Given the description of an element on the screen output the (x, y) to click on. 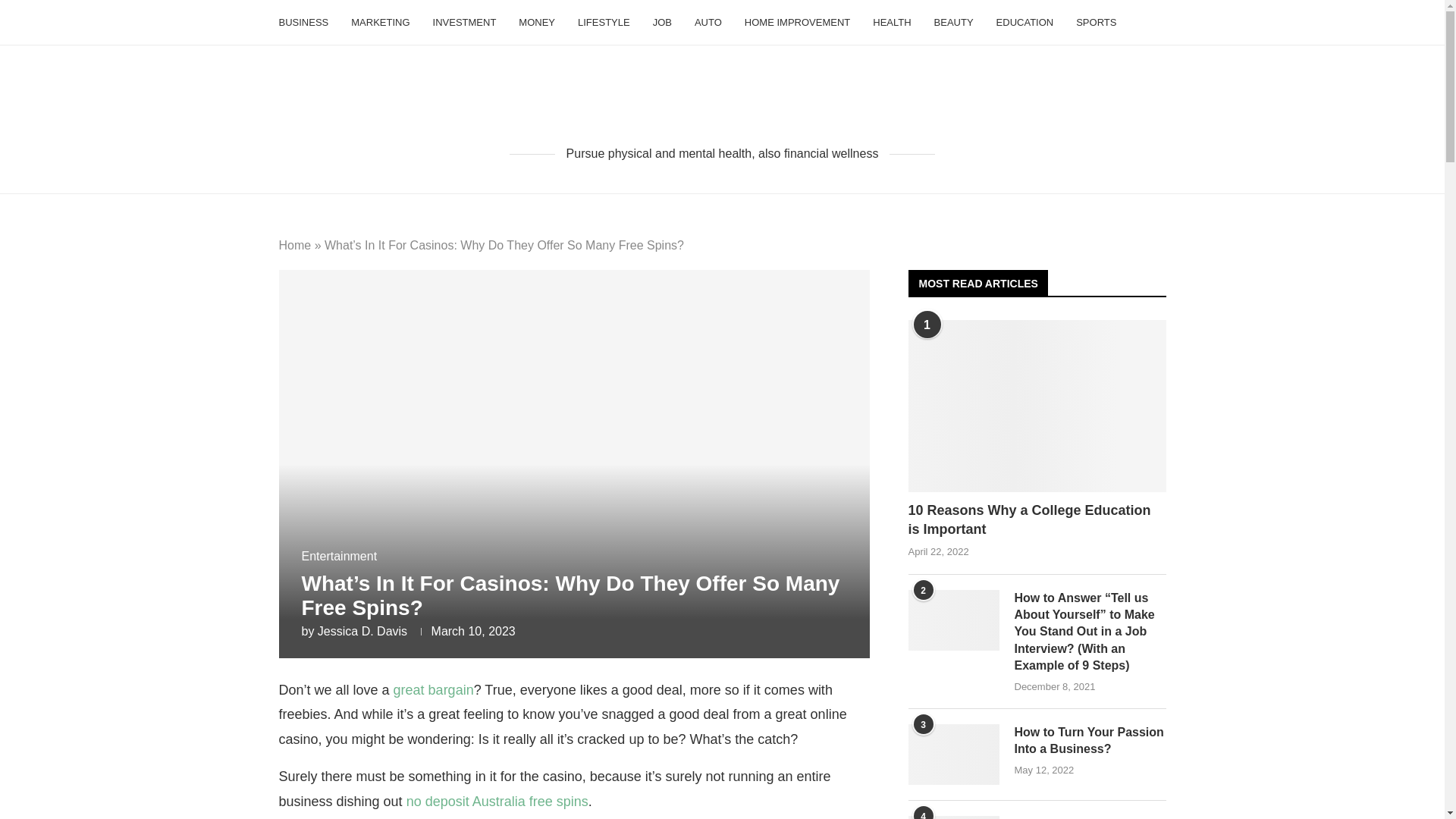
LIFESTYLE (604, 22)
BEAUTY (954, 22)
10 Reasons Why a College Education is Important (1037, 519)
EDUCATION (1024, 22)
SPORTS (1095, 22)
Jessica D. Davis (362, 631)
10 Reasons Why a College Education is Important (1037, 406)
no deposit Australia free spins (497, 801)
MARKETING (379, 22)
Entertainment (339, 555)
